Given the description of an element on the screen output the (x, y) to click on. 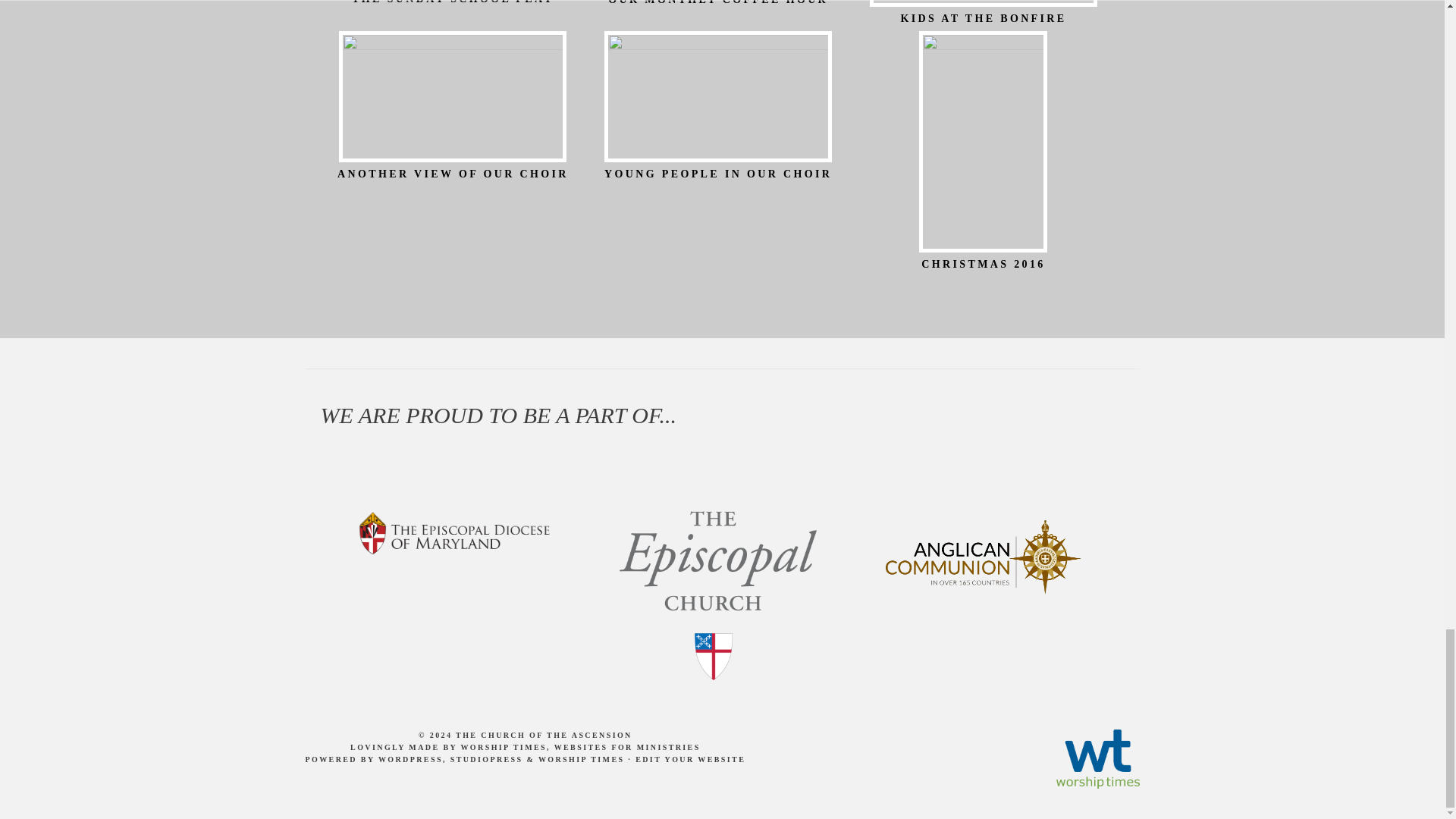
EDIT YOUR WEBSITE (689, 759)
WORSHIP TIMES, WEBSITES FOR MINISTRIES (580, 746)
The Church of the Ascension (543, 735)
WORSHIP TIMES (581, 759)
WORDPRESS (410, 759)
THE CHURCH OF THE ASCENSION (543, 735)
